Given the description of an element on the screen output the (x, y) to click on. 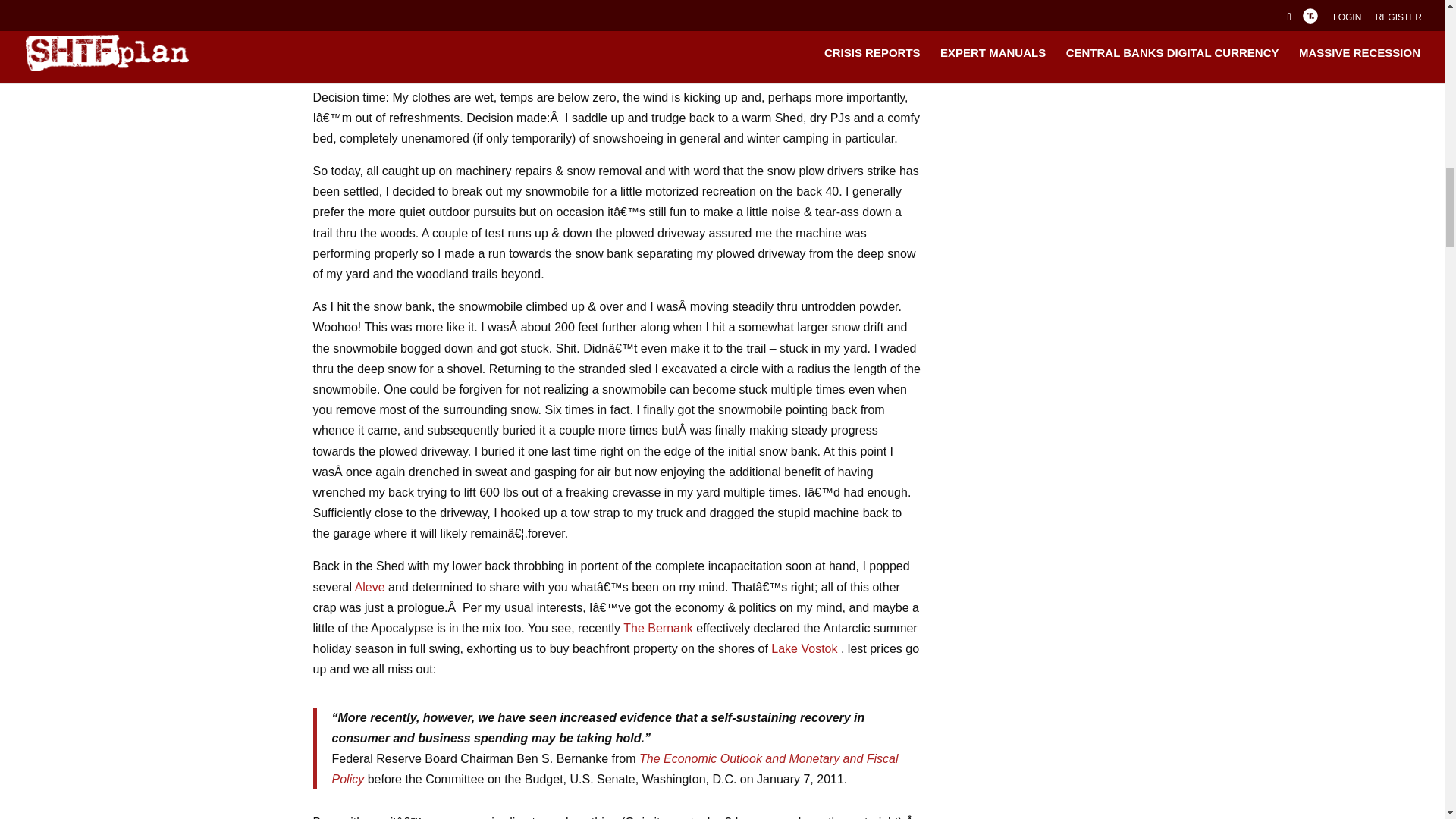
The Bernank (658, 627)
The Economic Outlook and Monetary and Fiscal Policy (614, 768)
Lake Vostok (804, 648)
Aleve (370, 586)
